Given the description of an element on the screen output the (x, y) to click on. 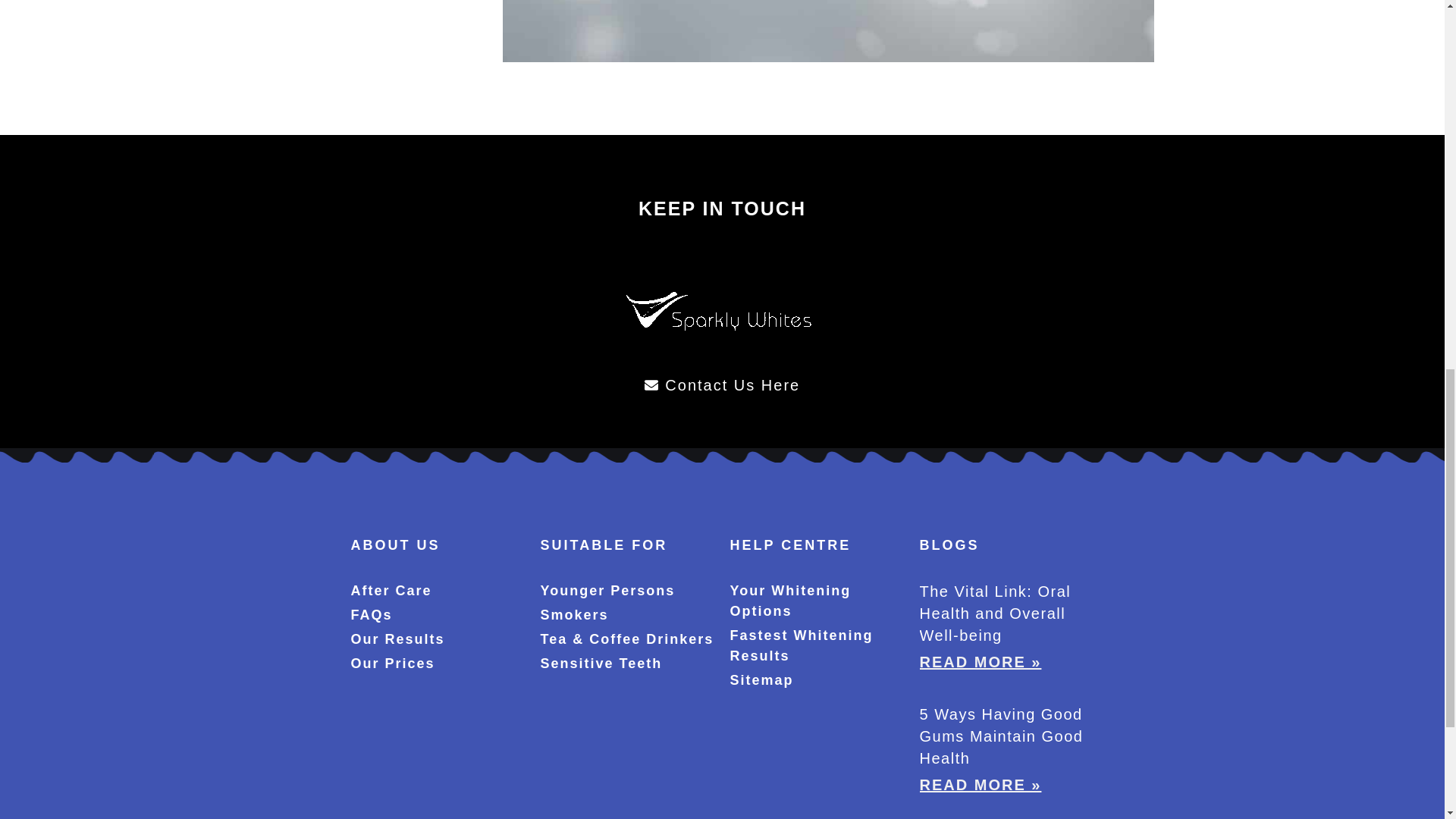
Our Results (437, 639)
After Care (437, 590)
FAQs (437, 615)
Smokers (627, 615)
Younger Persons (627, 590)
Our Prices (437, 663)
Contact Us Here (722, 384)
